Given the description of an element on the screen output the (x, y) to click on. 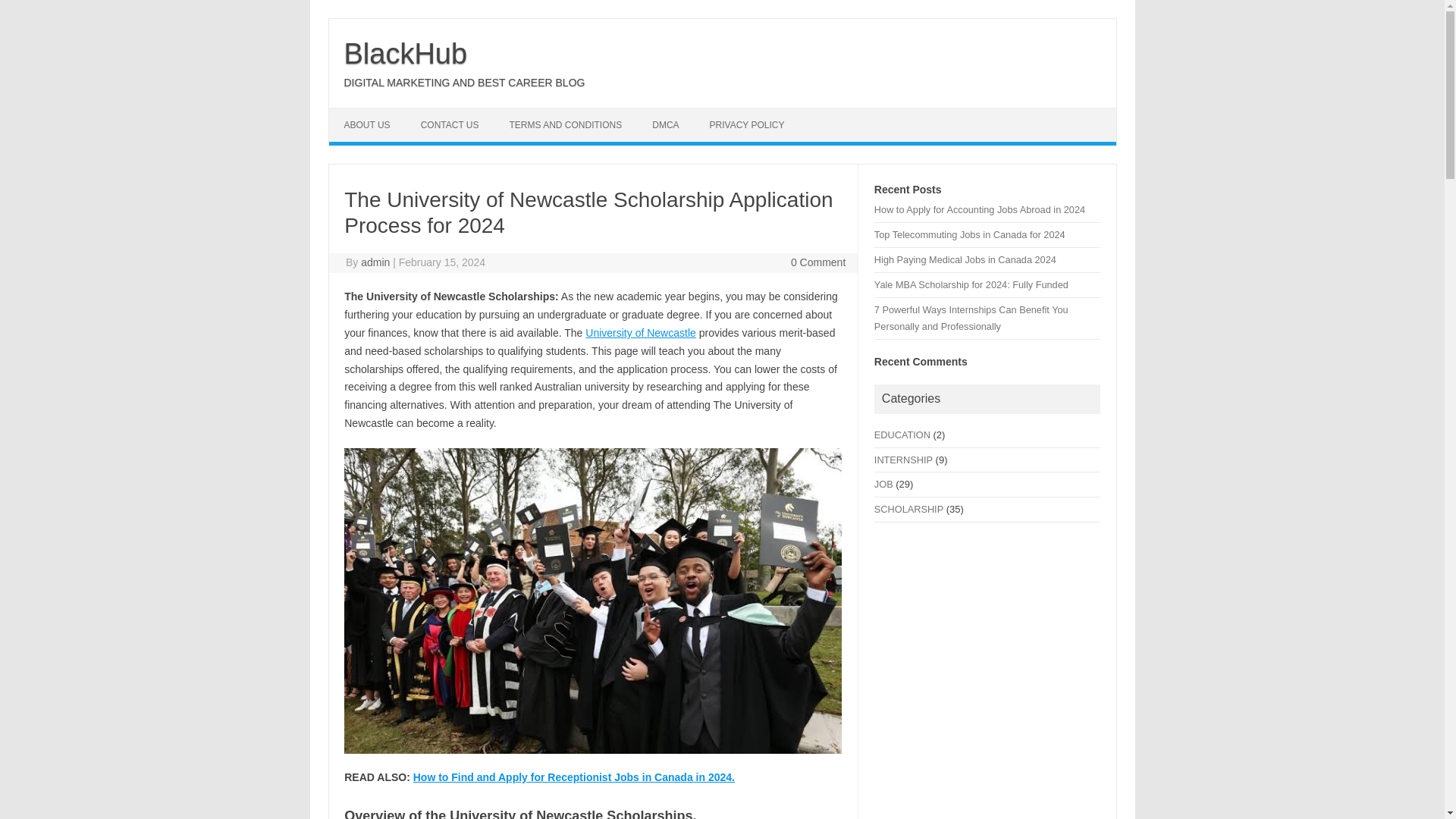
University of Newcastle (640, 332)
JOB (884, 483)
BlackHub (405, 53)
BlackHub (405, 53)
CONTACT US (450, 124)
Yale MBA Scholarship for 2024: Fully Funded (971, 284)
Top Telecommuting Jobs in Canada for 2024 (970, 234)
0 Comment (817, 262)
High Paying Medical Jobs in Canada 2024 (966, 259)
How to Apply for Accounting Jobs Abroad in 2024 (979, 209)
TERMS AND CONDITIONS (566, 124)
